Given the description of an element on the screen output the (x, y) to click on. 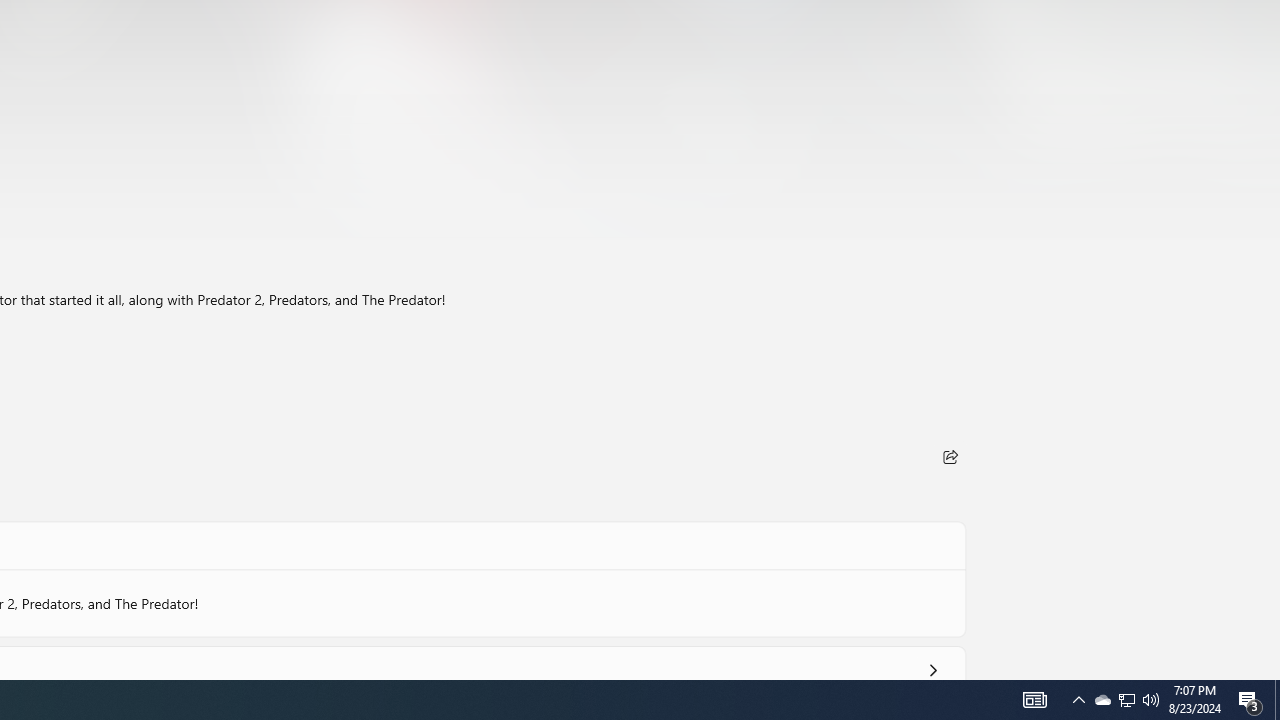
Share (950, 456)
Show all ratings and reviews (932, 665)
